Given the description of an element on the screen output the (x, y) to click on. 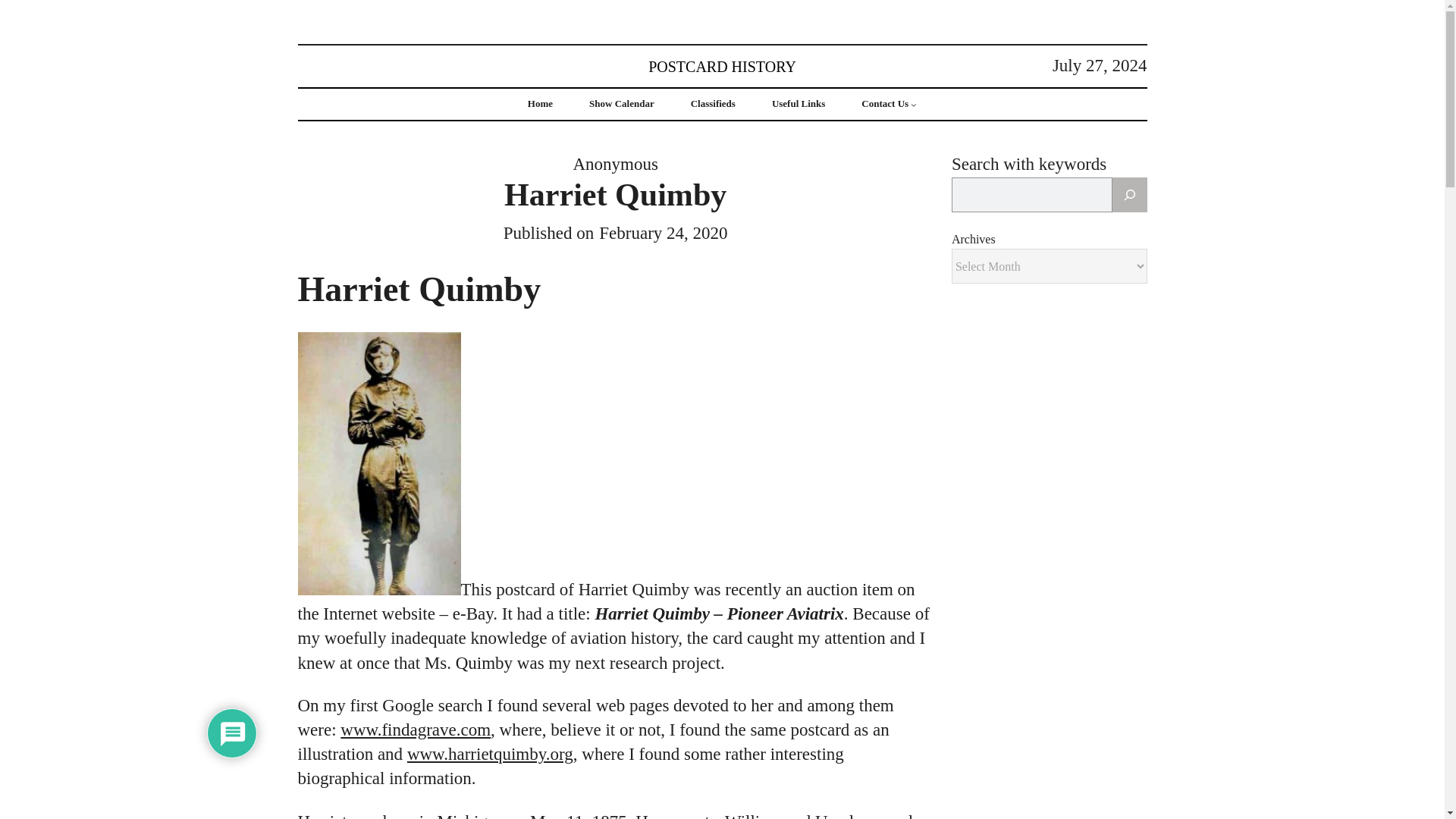
Home (540, 103)
Contact Us (884, 103)
Show Calendar (621, 103)
POSTCARD HISTORY (721, 65)
Classifieds (712, 103)
Useful Links (798, 103)
